Given the description of an element on the screen output the (x, y) to click on. 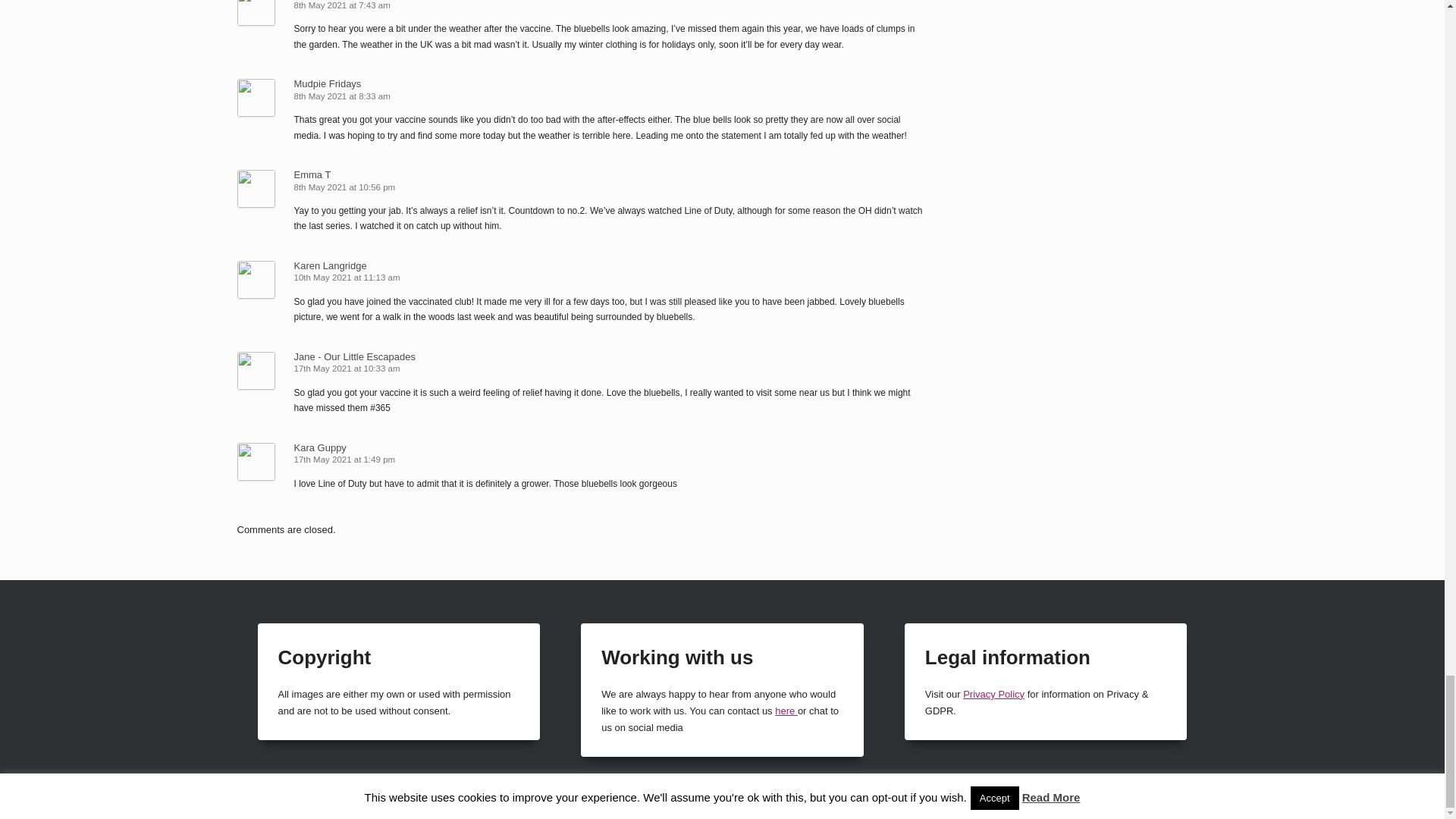
8th May 2021 at 7:43 am (343, 4)
